Given the description of an element on the screen output the (x, y) to click on. 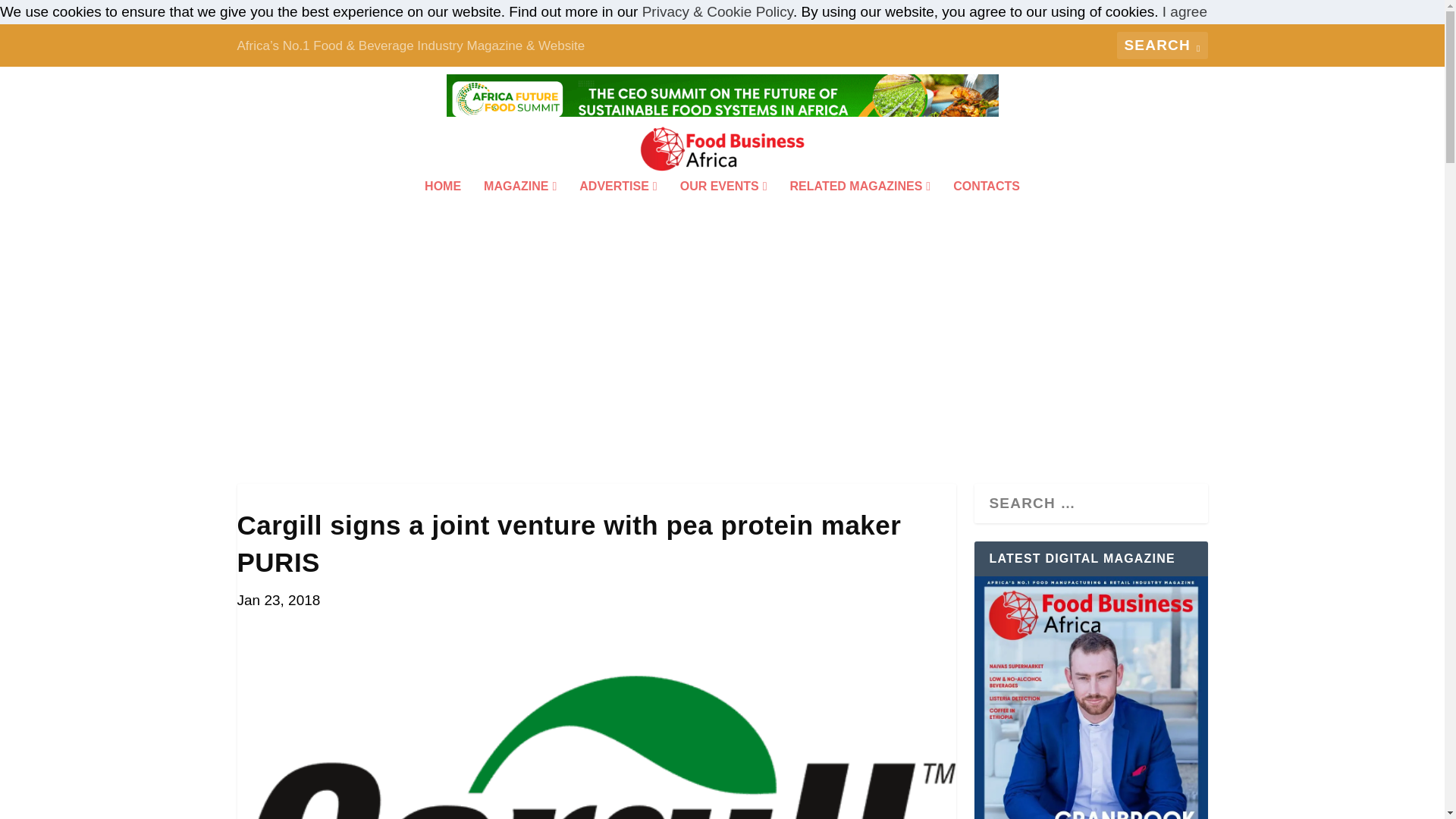
ADVERTISE (617, 206)
I agree (1184, 11)
MAGAZINE (519, 206)
RELATED MAGAZINES (860, 206)
OUR EVENTS (723, 206)
LATEST DIGITAL MAGAZINE (1090, 697)
CONTACTS (986, 206)
Search for: (1161, 44)
